Given the description of an element on the screen output the (x, y) to click on. 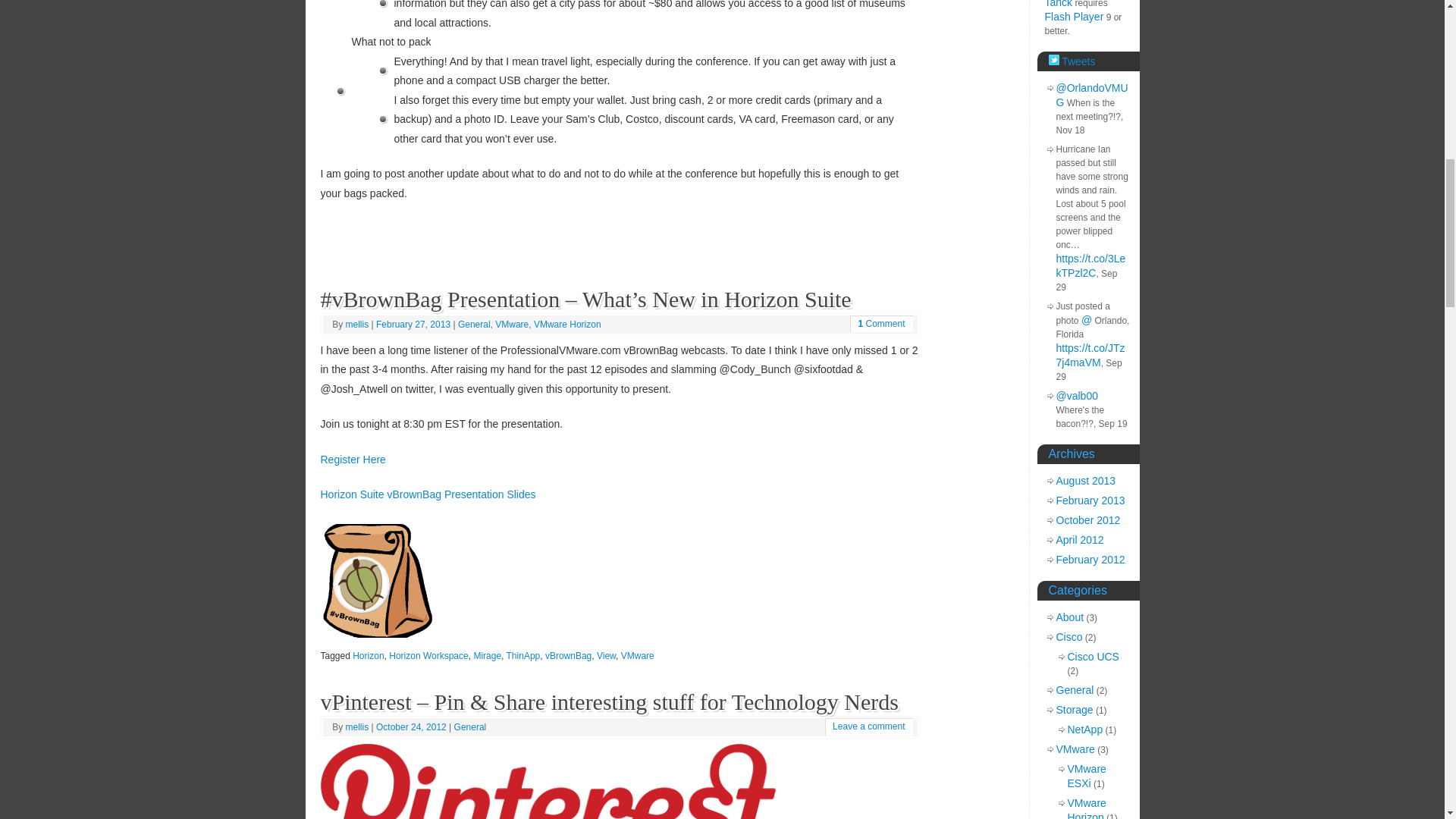
VMware Horizon (567, 324)
6:21 pm (413, 324)
vBrownBag (567, 655)
Mirage (486, 655)
Horizon (368, 655)
General (470, 726)
Horizon Workspace (427, 655)
Register Here (352, 459)
mellis (357, 324)
VMware (511, 324)
1 Comment (880, 323)
View all posts by mellis (357, 324)
October 24, 2012 (411, 726)
VMware (637, 655)
February 27, 2013 (413, 324)
